Given the description of an element on the screen output the (x, y) to click on. 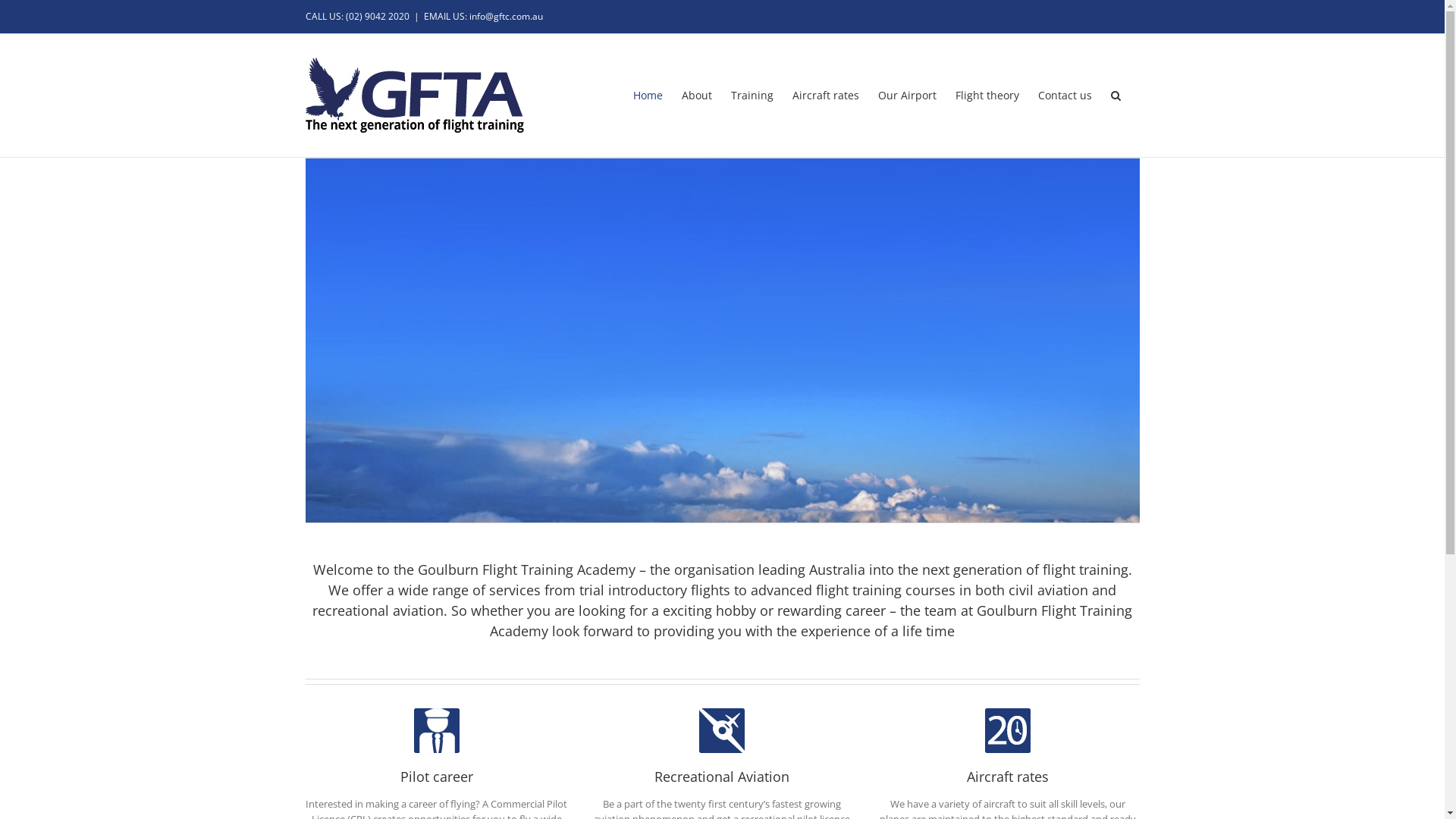
EMAIL US: info@gftc.com.au Element type: text (482, 15)
Aircraft rates Element type: text (824, 95)
Flight theory Element type: text (987, 95)
Contact us Element type: text (1064, 95)
Training Element type: text (752, 95)
Home Element type: text (647, 95)
Pilot career Element type: text (435, 746)
Aircraft rates Element type: text (1007, 746)
About Element type: text (695, 95)
Search Element type: hover (1115, 95)
Our Airport Element type: text (907, 95)
Recreational Aviation Element type: text (721, 746)
